Given the description of an element on the screen output the (x, y) to click on. 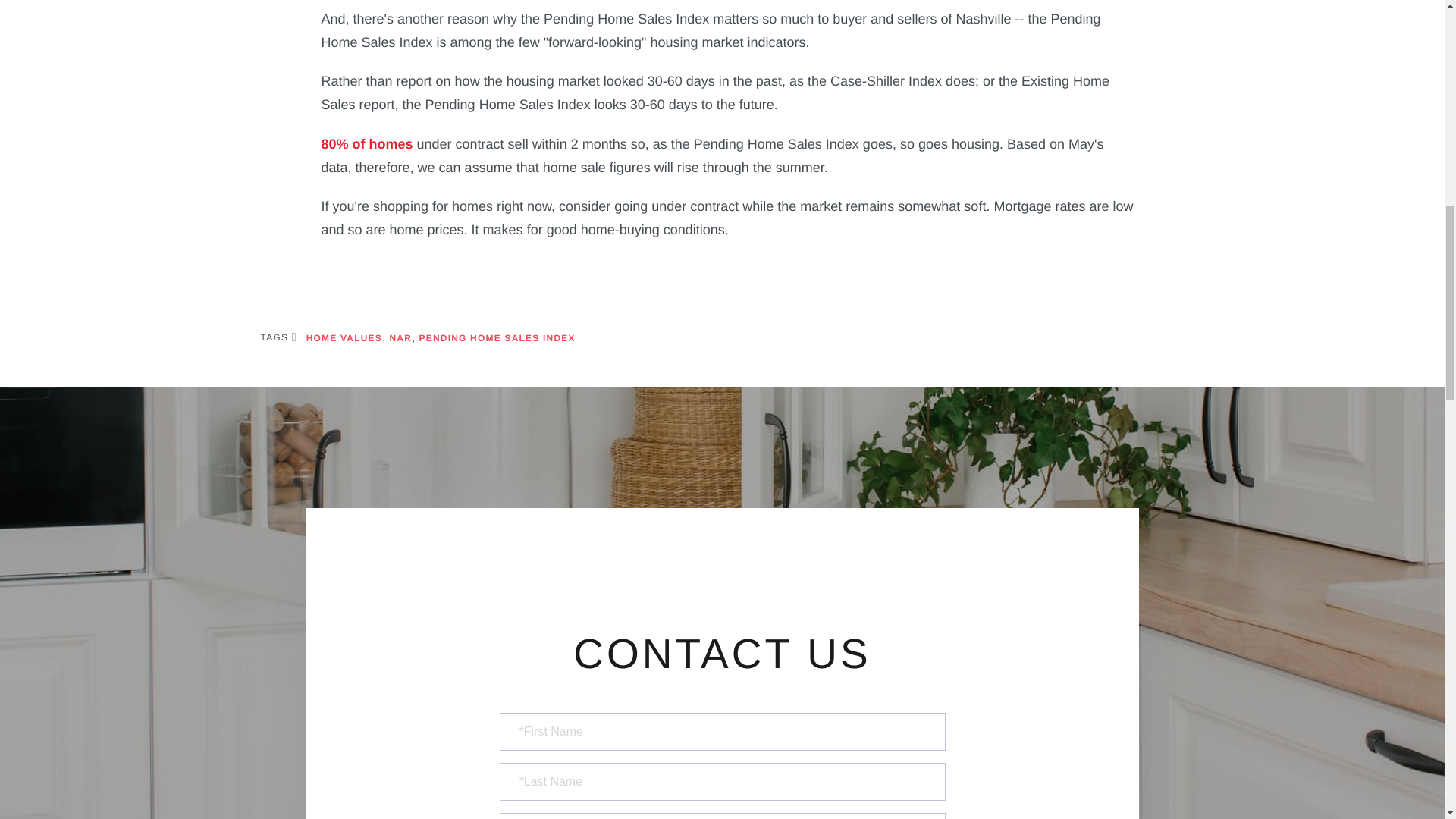
PHSI methodology (367, 143)
